Given the description of an element on the screen output the (x, y) to click on. 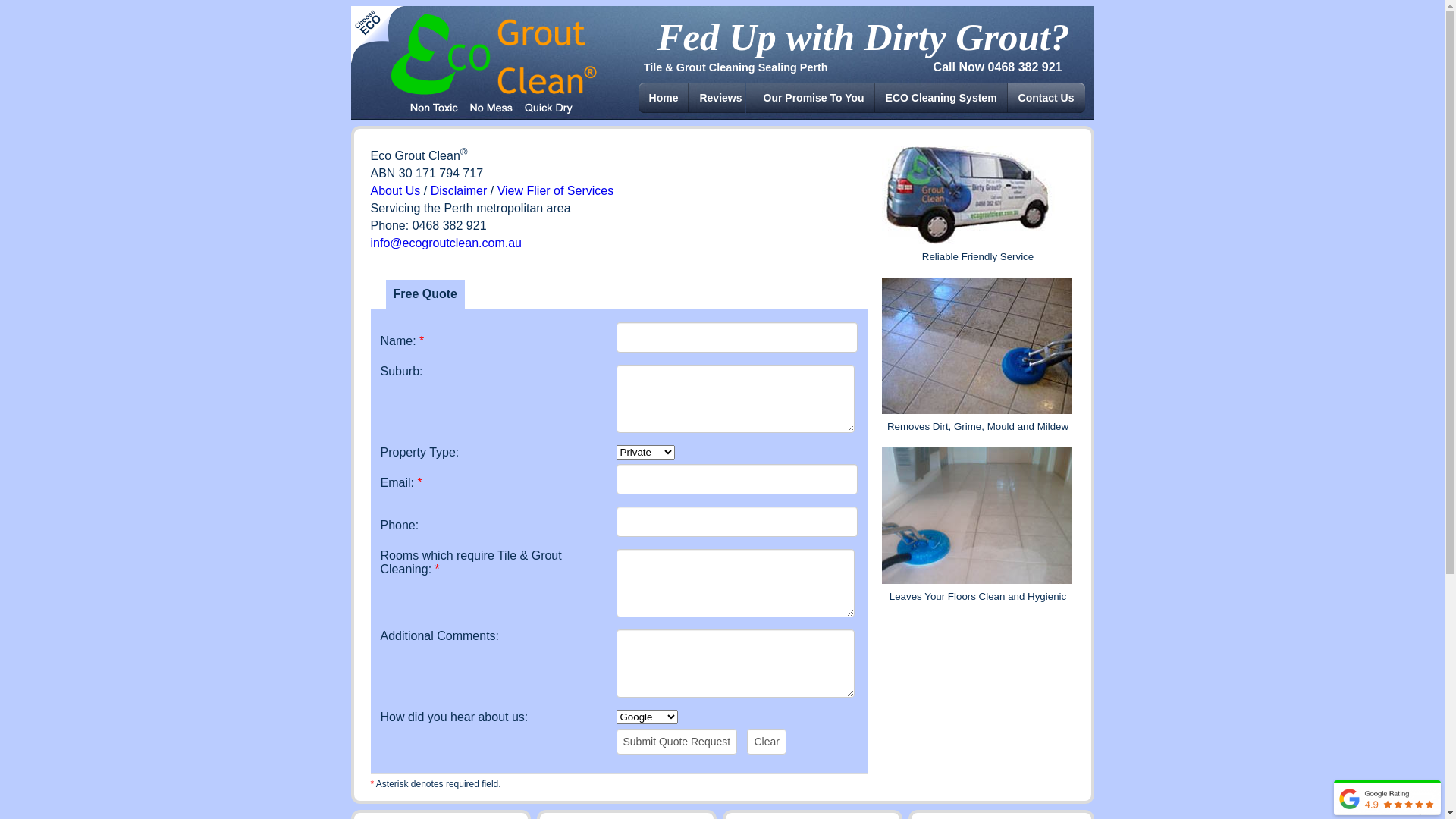
Tile & Grout Cleaning Sealing Perth Element type: text (735, 67)
Our Promise To You Element type: text (814, 97)
Submit Quote Request Element type: text (676, 741)
Reviews Element type: text (720, 97)
Contact Us Element type: text (1046, 97)
info@ecogroutclean.com.au Element type: text (445, 242)
Free Quote Element type: text (424, 293)
About Us Element type: text (395, 190)
ECO Cleaning System Element type: text (941, 97)
View Flier of Services Element type: text (555, 190)
Clear Element type: text (765, 741)
Disclaimer Element type: text (458, 190)
Home Element type: text (663, 97)
